Given the description of an element on the screen output the (x, y) to click on. 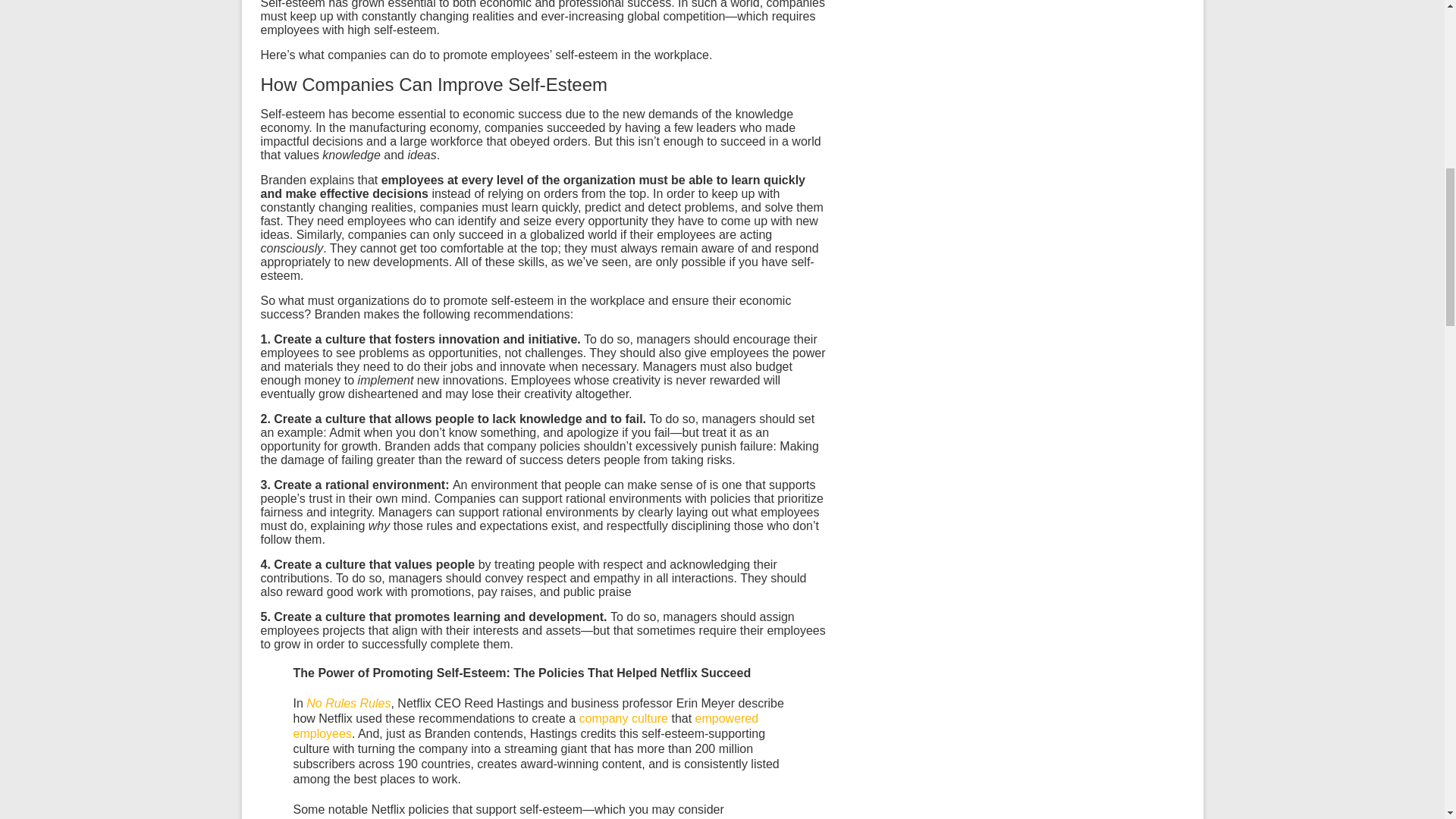
No Rules Rules (347, 703)
company culture (623, 717)
empowered employees (525, 725)
